Given the description of an element on the screen output the (x, y) to click on. 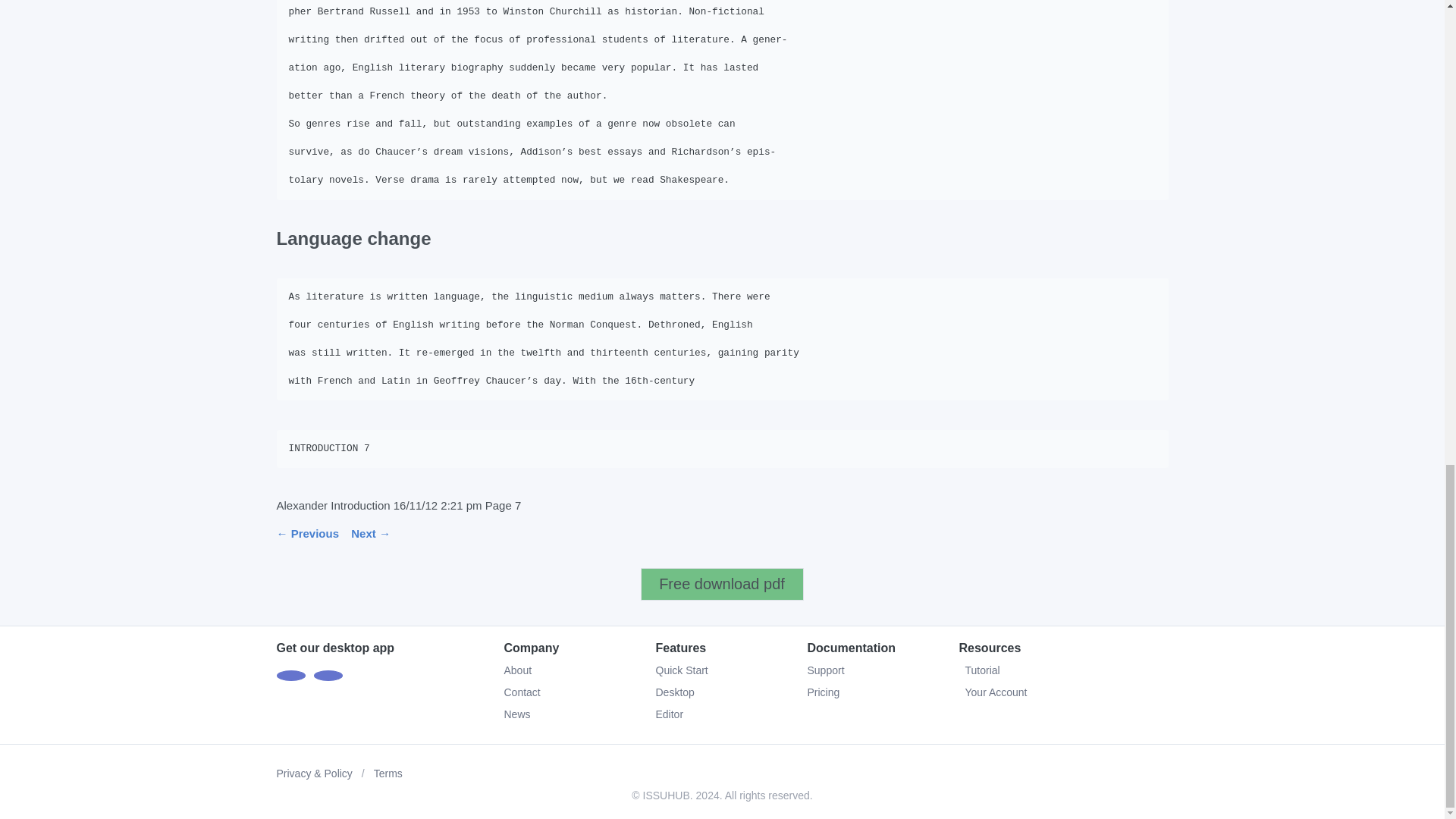
Your Account (1062, 692)
Desktop (674, 692)
Editor (668, 714)
Free download pdf (721, 584)
Free download pdf (721, 584)
Terms (388, 773)
News (516, 714)
Pricing (823, 692)
Quick Start (681, 670)
Contact (521, 692)
